Given the description of an element on the screen output the (x, y) to click on. 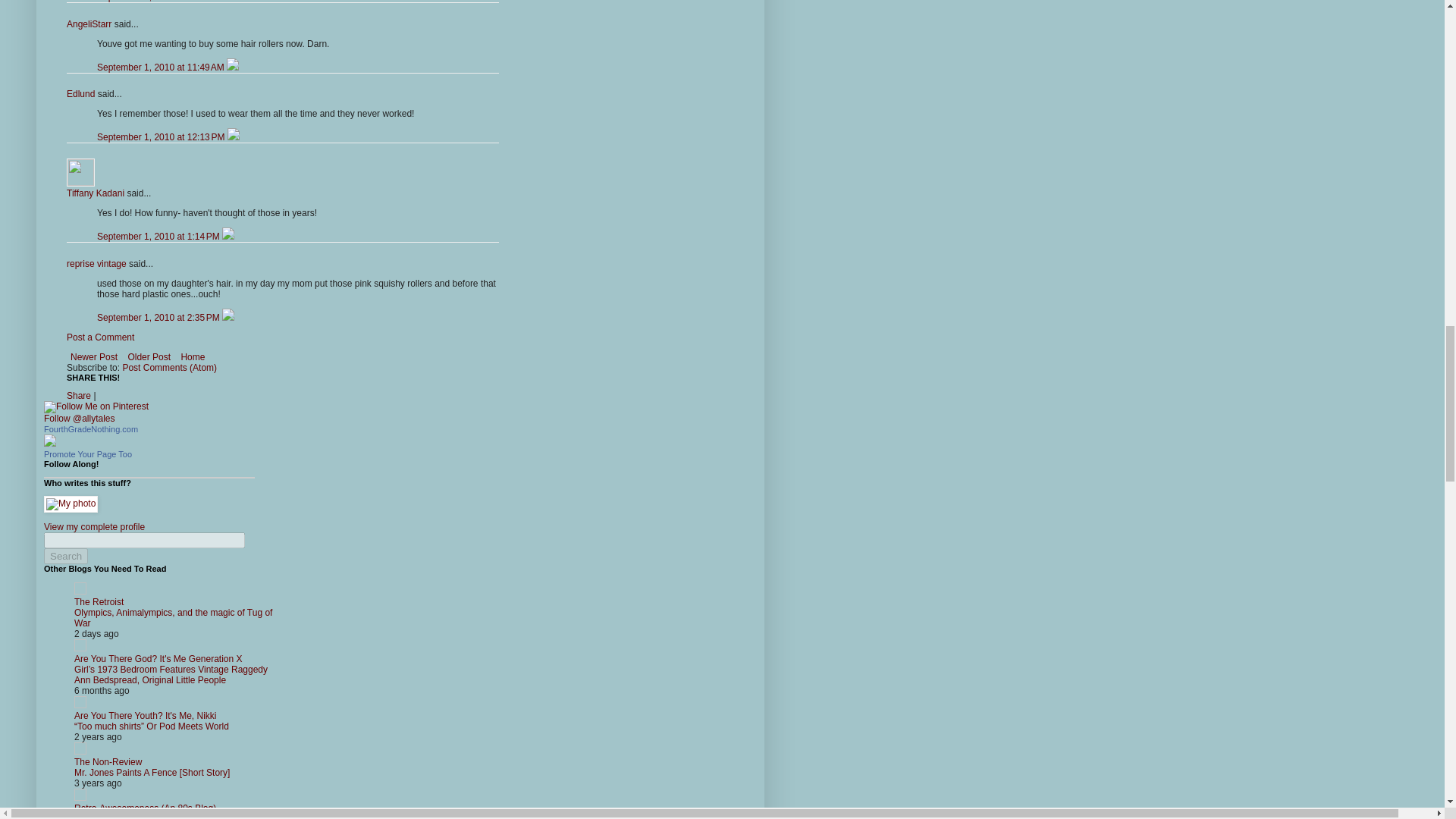
Search (65, 555)
